Given the description of an element on the screen output the (x, y) to click on. 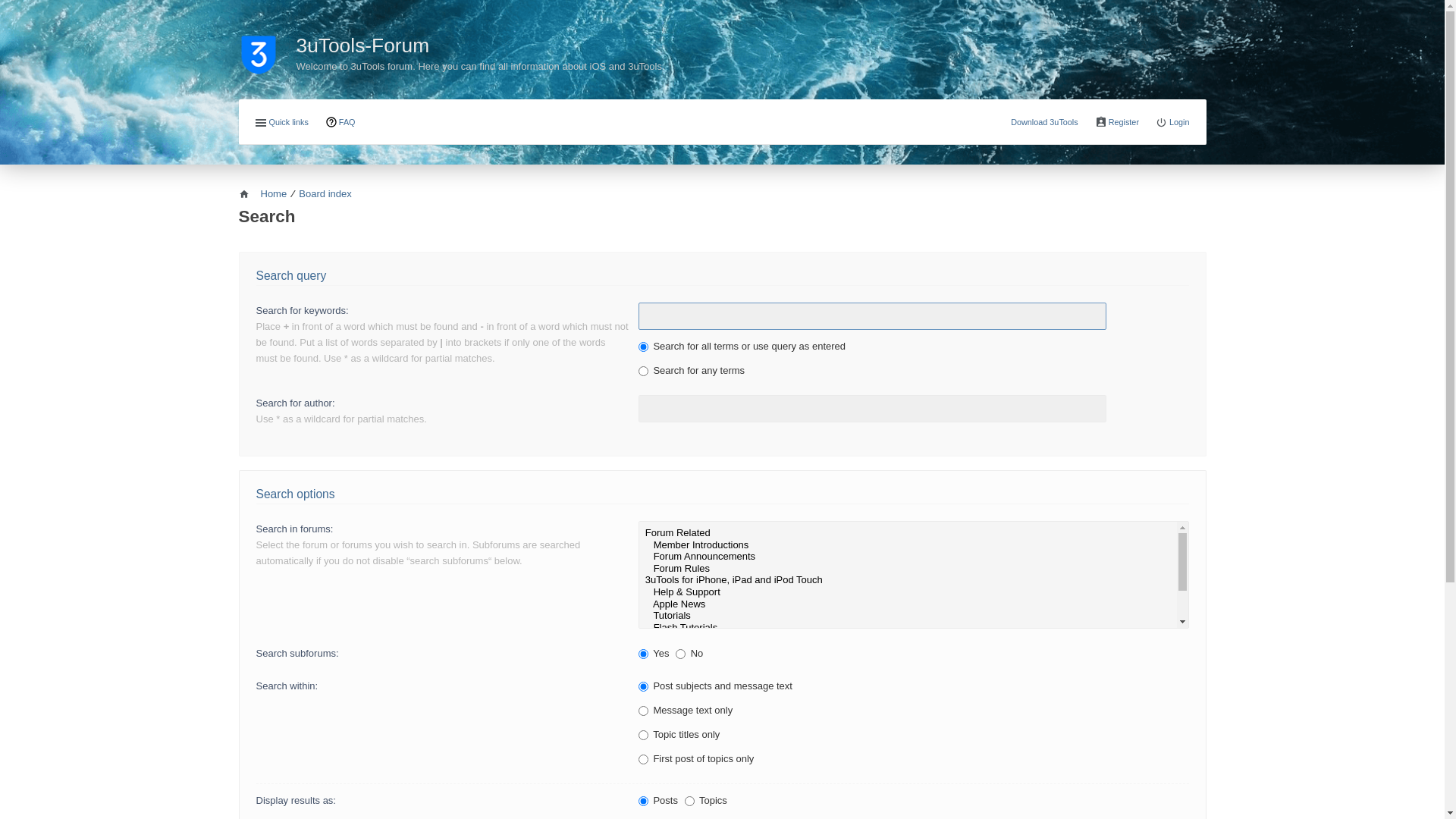
Search for keywords Element type: hover (872, 315)
Search for author Element type: hover (872, 408)
Register Element type: text (1117, 122)
FAQ Element type: text (340, 122)
Login Element type: text (1172, 122)
Home Element type: text (262, 194)
Board index Element type: text (324, 194)
Quick links Element type: text (280, 122)
Home Element type: hover (266, 45)
Download 3uTools Element type: text (1044, 121)
